Given the description of an element on the screen output the (x, y) to click on. 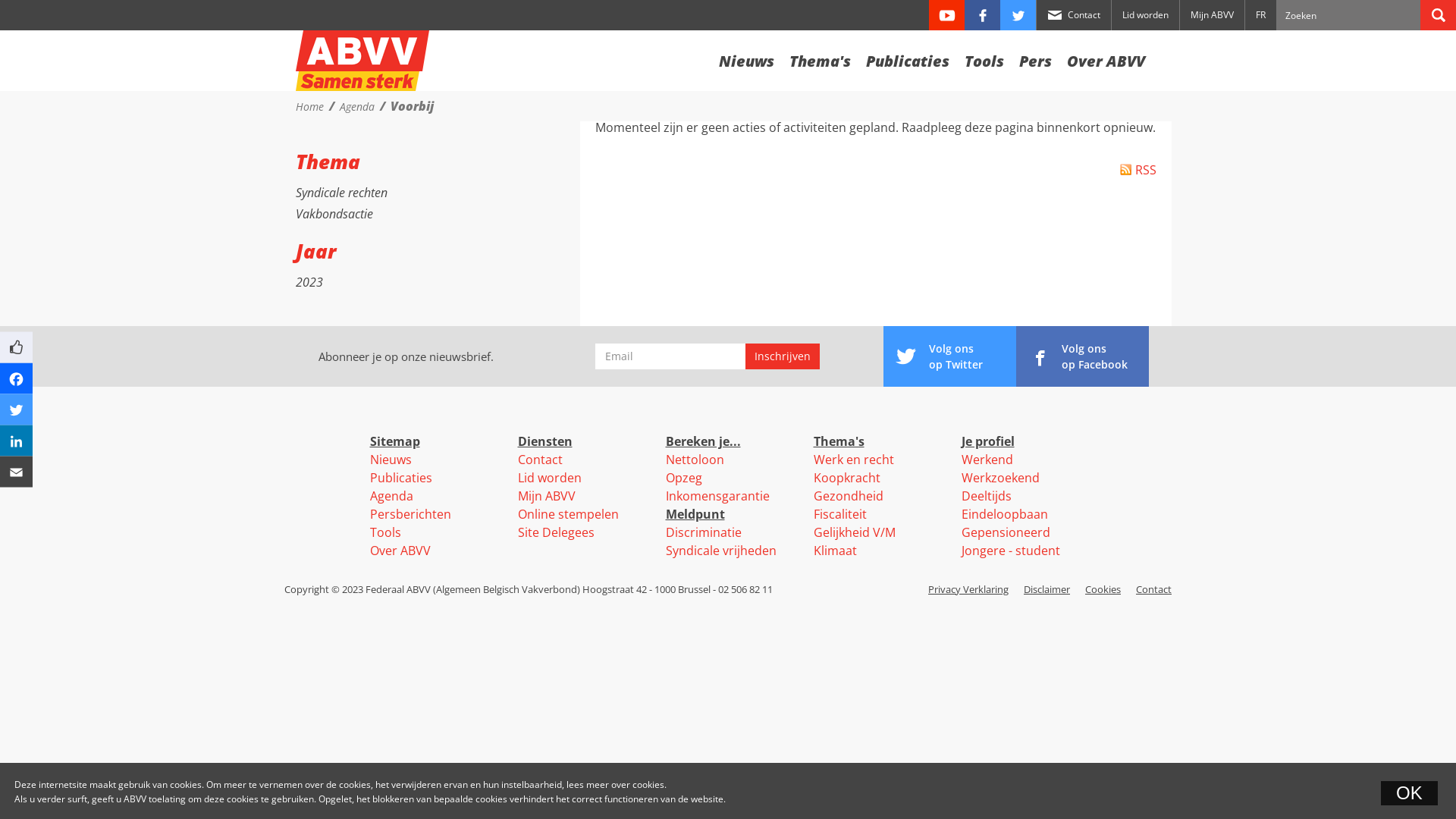
Nieuws Element type: text (746, 57)
Persberichten Element type: text (410, 513)
Gelijkheid V/M Element type: text (853, 532)
Home Element type: hover (362, 60)
Werk en recht Element type: text (852, 459)
Klimaat Element type: text (834, 550)
Jongere - student Element type: text (1010, 550)
Over ABVV Element type: text (1105, 57)
Publicaties Element type: text (401, 477)
Mijn ABVV Element type: text (545, 495)
Opzeg Element type: text (683, 477)
Lid worden Element type: text (1145, 15)
Fiscaliteit Element type: text (839, 513)
Online stempelen Element type: text (567, 513)
RSS Element type: text (1138, 169)
Inkomensgarantie Element type: text (717, 495)
Nettoloon Element type: text (694, 459)
Vakbondsactie Element type: text (334, 213)
Publicaties Element type: text (907, 57)
Pers Element type: text (1035, 57)
Contact Element type: text (539, 459)
Tools Element type: text (984, 57)
Youtube Element type: text (946, 15)
2023 Element type: text (309, 281)
Disclaimer Element type: text (1046, 589)
Werkend Element type: text (987, 459)
lees meer over cookies Element type: text (615, 784)
Agenda Element type: text (391, 495)
Inschrijven Element type: text (782, 356)
Koopkracht Element type: text (845, 477)
Volg ons
op Twitter Element type: text (949, 356)
E-mail Element type: hover (670, 356)
Eindeloopbaan Element type: text (1004, 513)
FR Element type: text (1260, 15)
Discriminatie Element type: text (703, 532)
Tools Element type: text (385, 532)
Deeltijds Element type: text (986, 495)
Mijn ABVV Element type: text (1211, 15)
Agenda Element type: text (356, 106)
Cookies Element type: text (1102, 589)
Gepensioneerd Element type: text (1005, 532)
Thema's Element type: text (819, 57)
Twitter Element type: text (1017, 15)
Nieuws Element type: text (390, 459)
Site Delegees Element type: text (555, 532)
Facebook Element type: text (982, 15)
Volg ons
op Facebook Element type: text (1082, 356)
Syndicale vrijheden Element type: text (720, 550)
Contact Element type: text (1073, 15)
OK Element type: text (1408, 793)
Home Element type: text (309, 106)
Werkzoekend Element type: text (1000, 477)
Gezondheid Element type: text (847, 495)
Over ABVV Element type: text (400, 550)
Syndicale rechten Element type: text (341, 192)
Contact Element type: text (1153, 589)
Lid worden Element type: text (548, 477)
Privacy Verklaring Element type: text (968, 589)
